Given the description of an element on the screen output the (x, y) to click on. 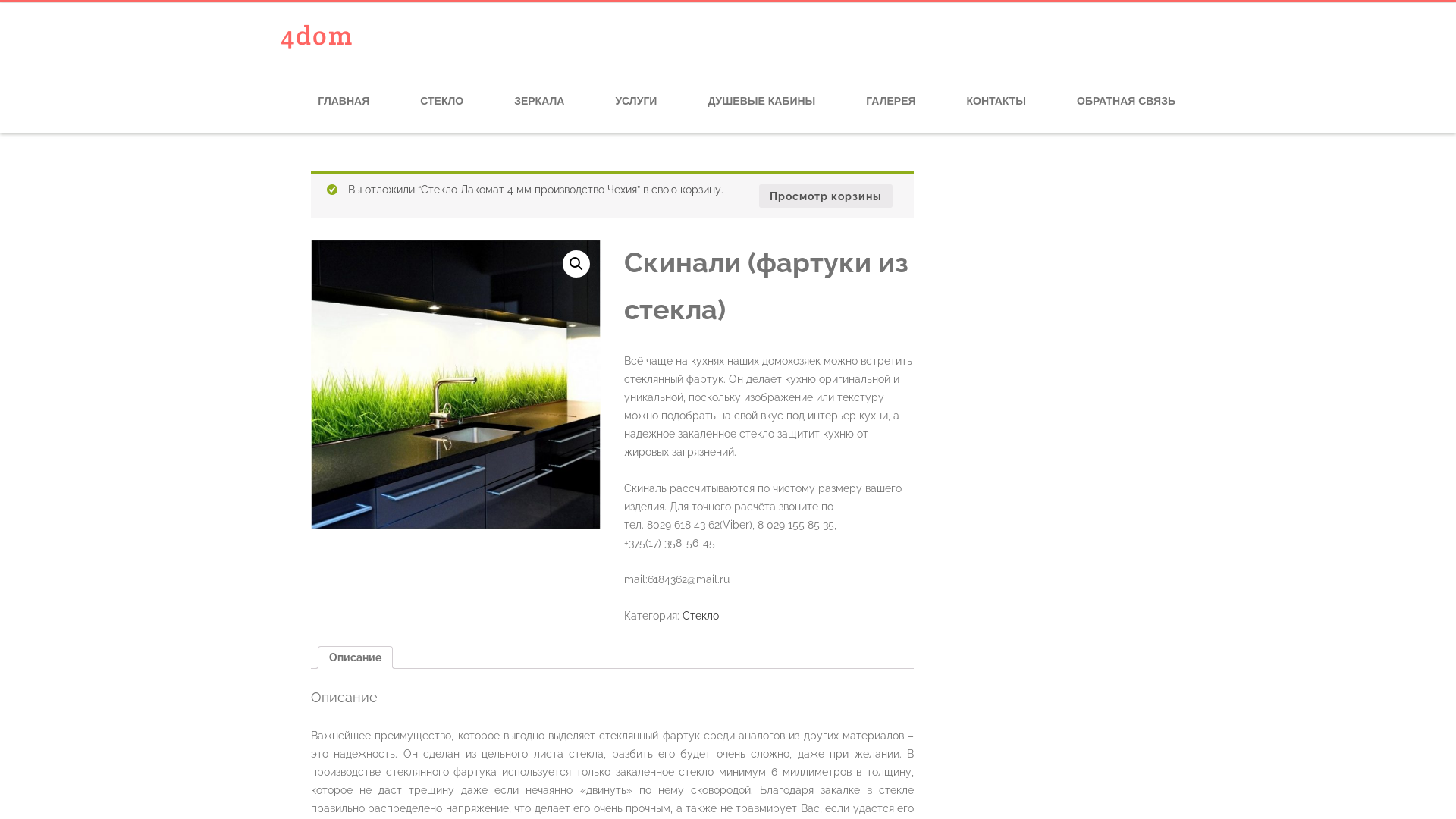
4dom Element type: text (316, 35)
skinali-foto-01 Element type: hover (455, 384)
